Given the description of an element on the screen output the (x, y) to click on. 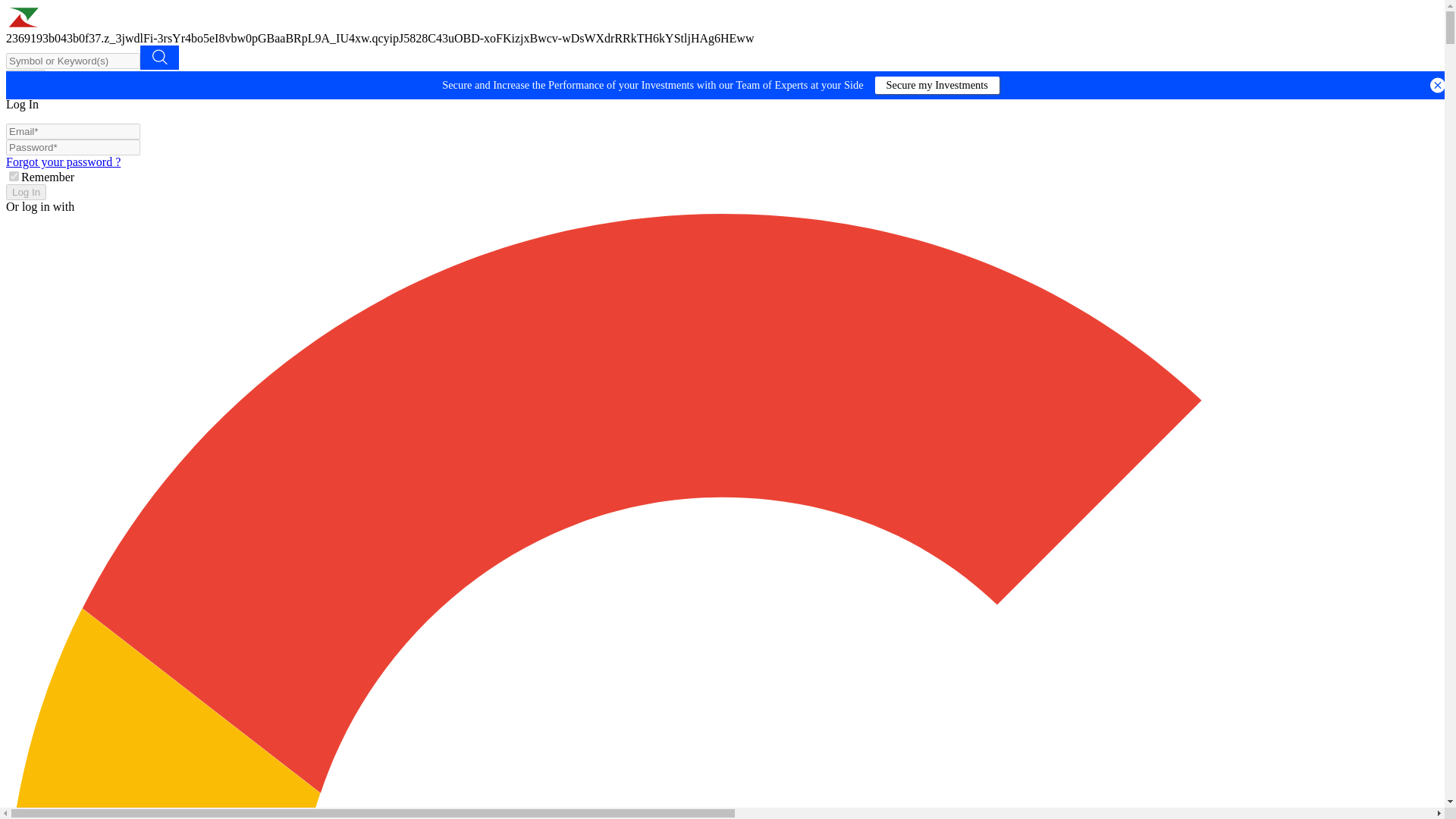
Marketscreener: stock market and financial news (108, 24)
Forgot your password ? (62, 161)
Log in (25, 77)
Advanced search (159, 57)
Log In (25, 191)
on (13, 175)
